Given the description of an element on the screen output the (x, y) to click on. 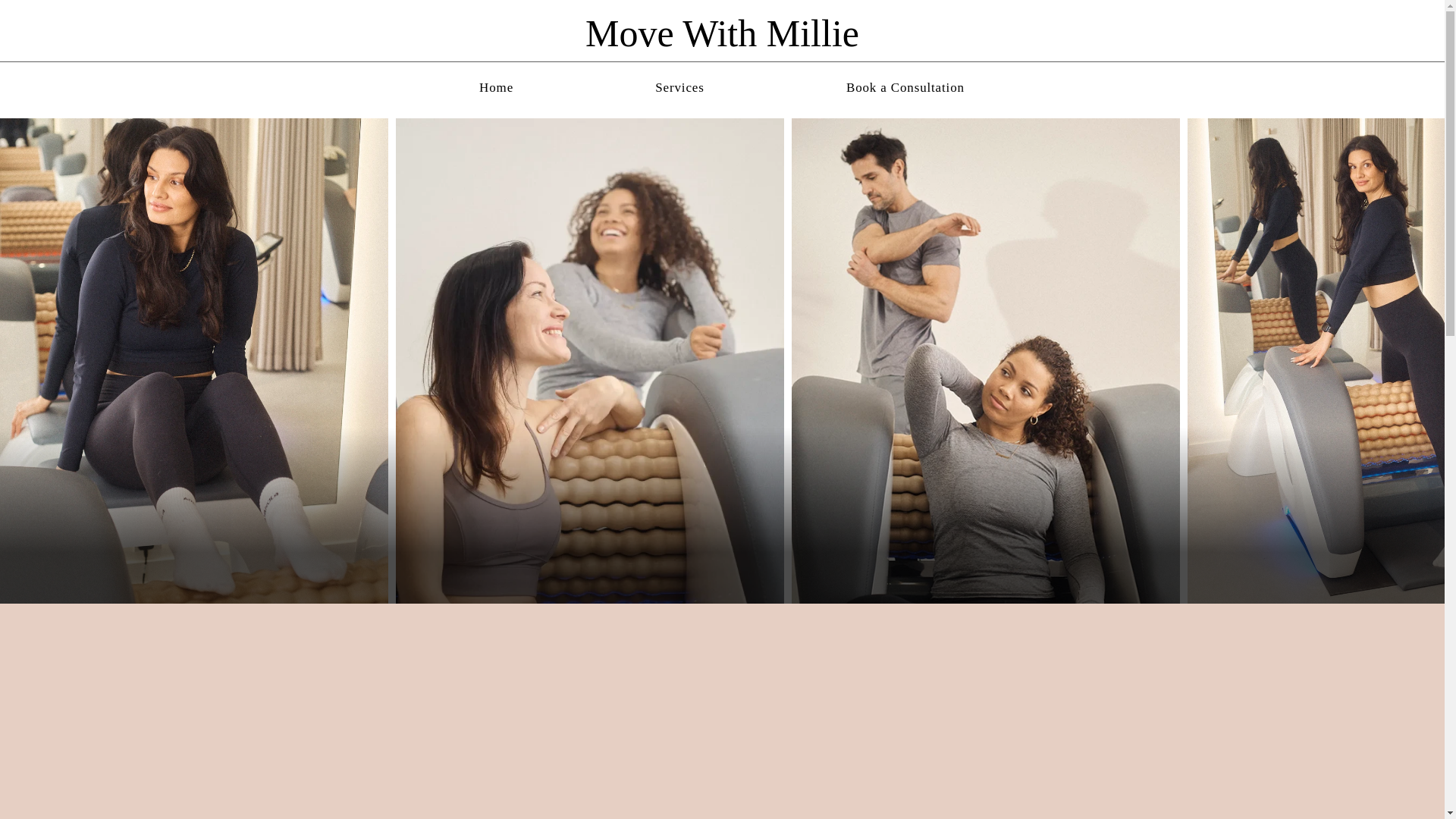
Home (495, 87)
Services (680, 87)
Move With Millie (722, 33)
Book a Consultation (904, 87)
